Given the description of an element on the screen output the (x, y) to click on. 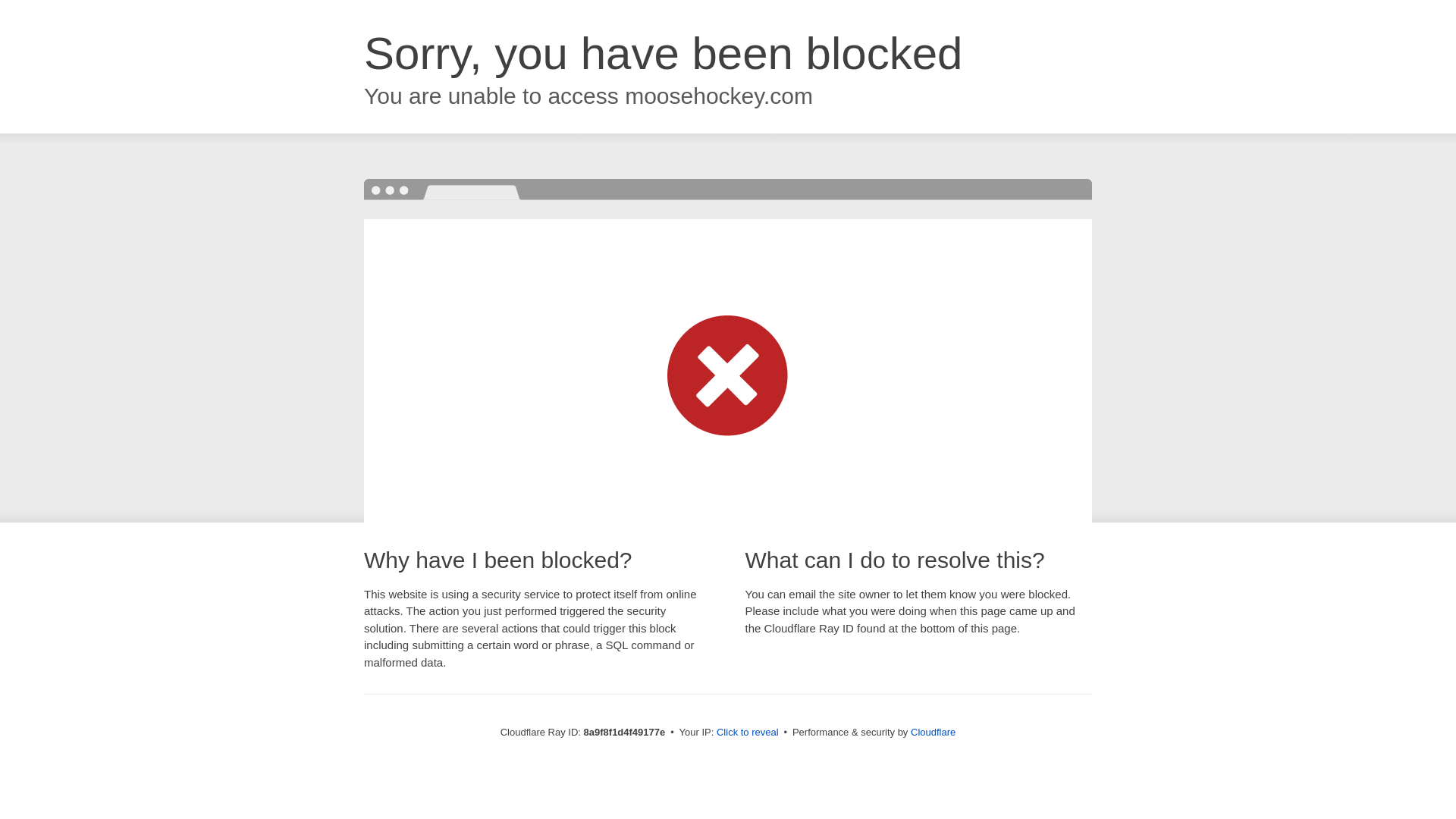
Click to reveal (747, 732)
Cloudflare (933, 731)
